Given the description of an element on the screen output the (x, y) to click on. 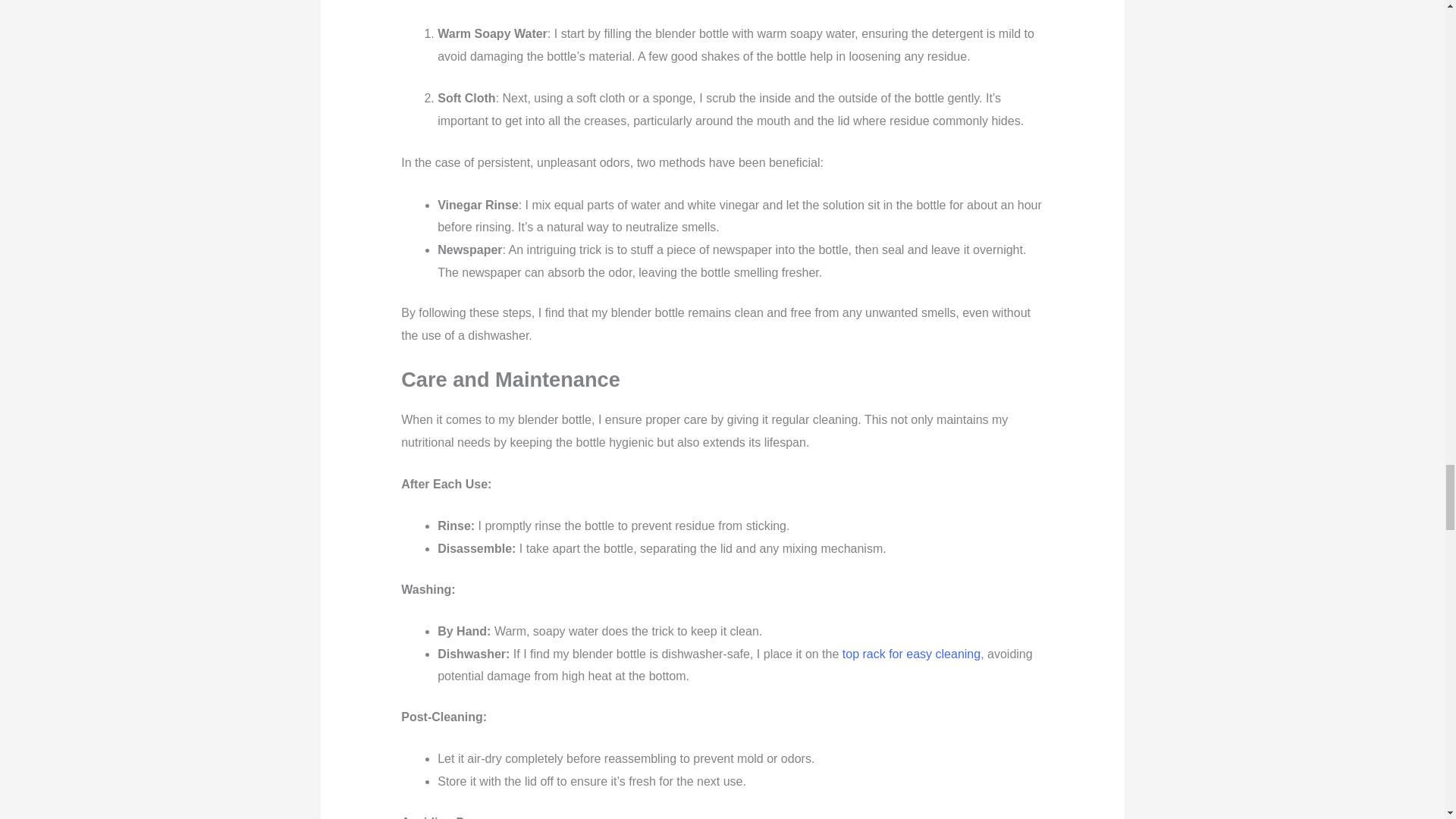
top rack for easy cleaning (911, 653)
